Given the description of an element on the screen output the (x, y) to click on. 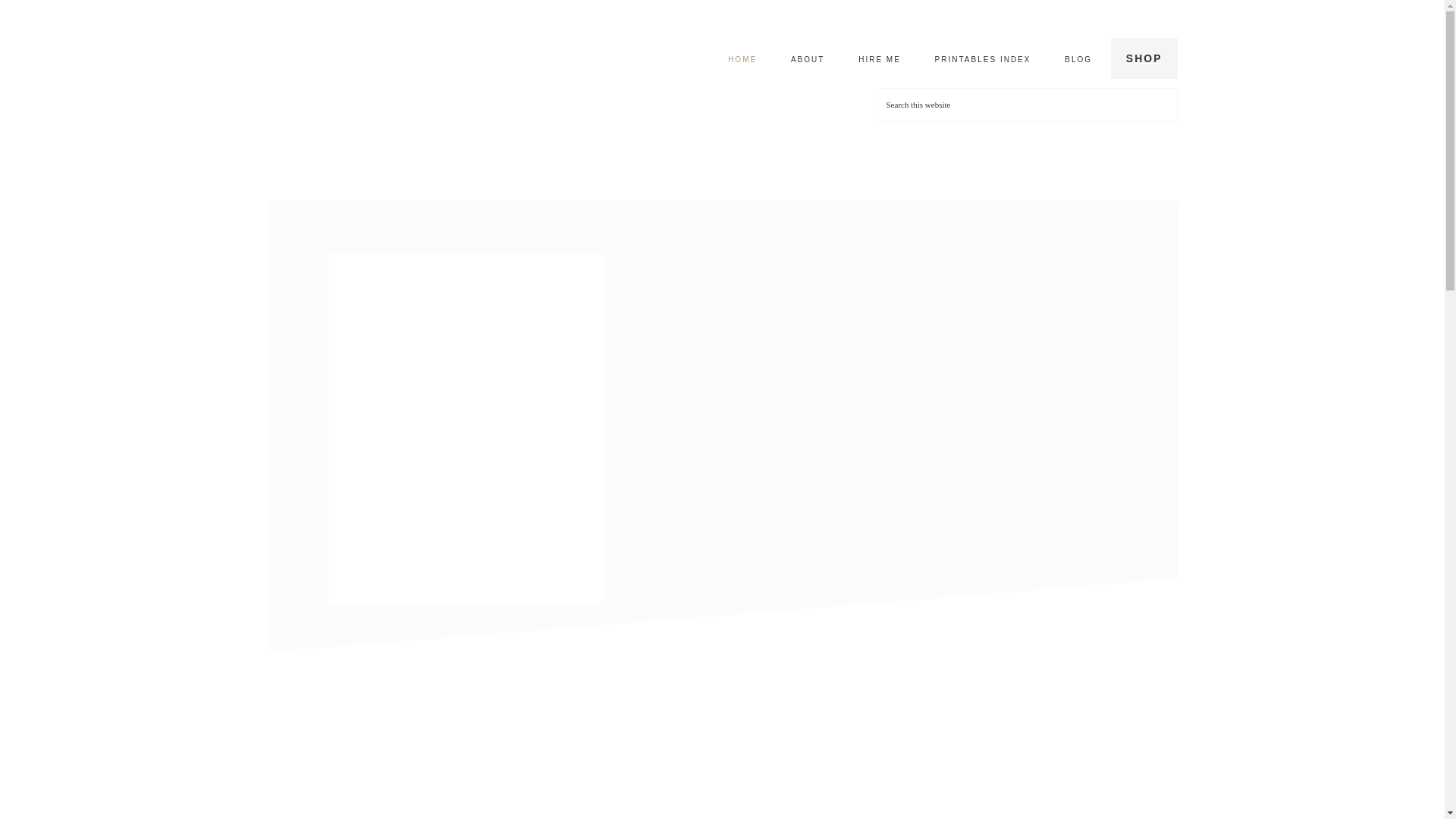
SHOP (1143, 57)
BLOG (1077, 59)
PRINTABLES INDEX (983, 59)
ABOUT (808, 59)
HOME (742, 59)
KENDRA JOHN DESIGNS (418, 65)
HIRE ME (879, 59)
